Given the description of an element on the screen output the (x, y) to click on. 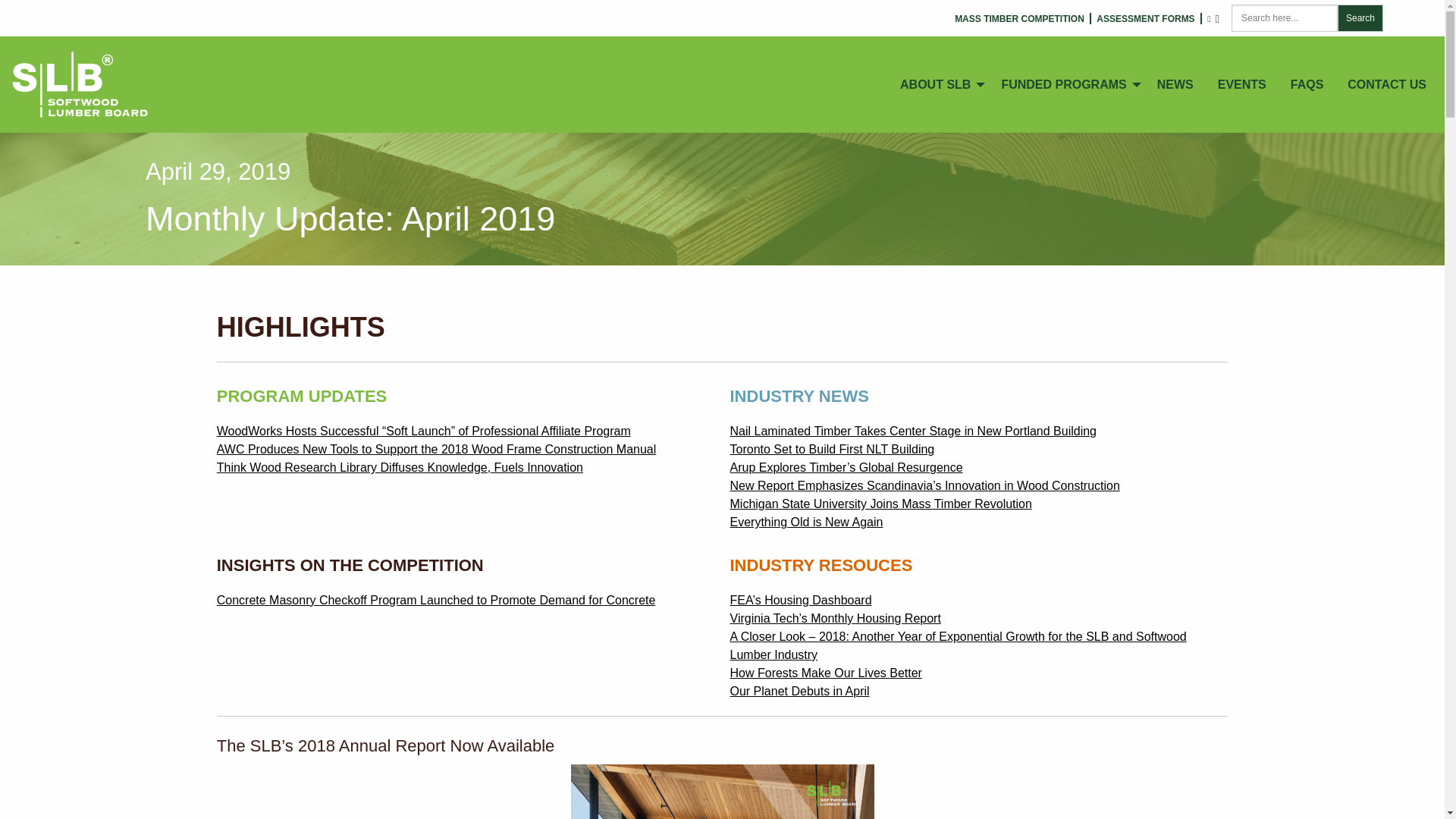
MASS TIMBER COMPETITION (1019, 18)
Search (1360, 17)
Search (1360, 17)
ABOUT SLB (938, 84)
Search (1360, 17)
ASSESSMENT FORMS (1144, 18)
